Given the description of an element on the screen output the (x, y) to click on. 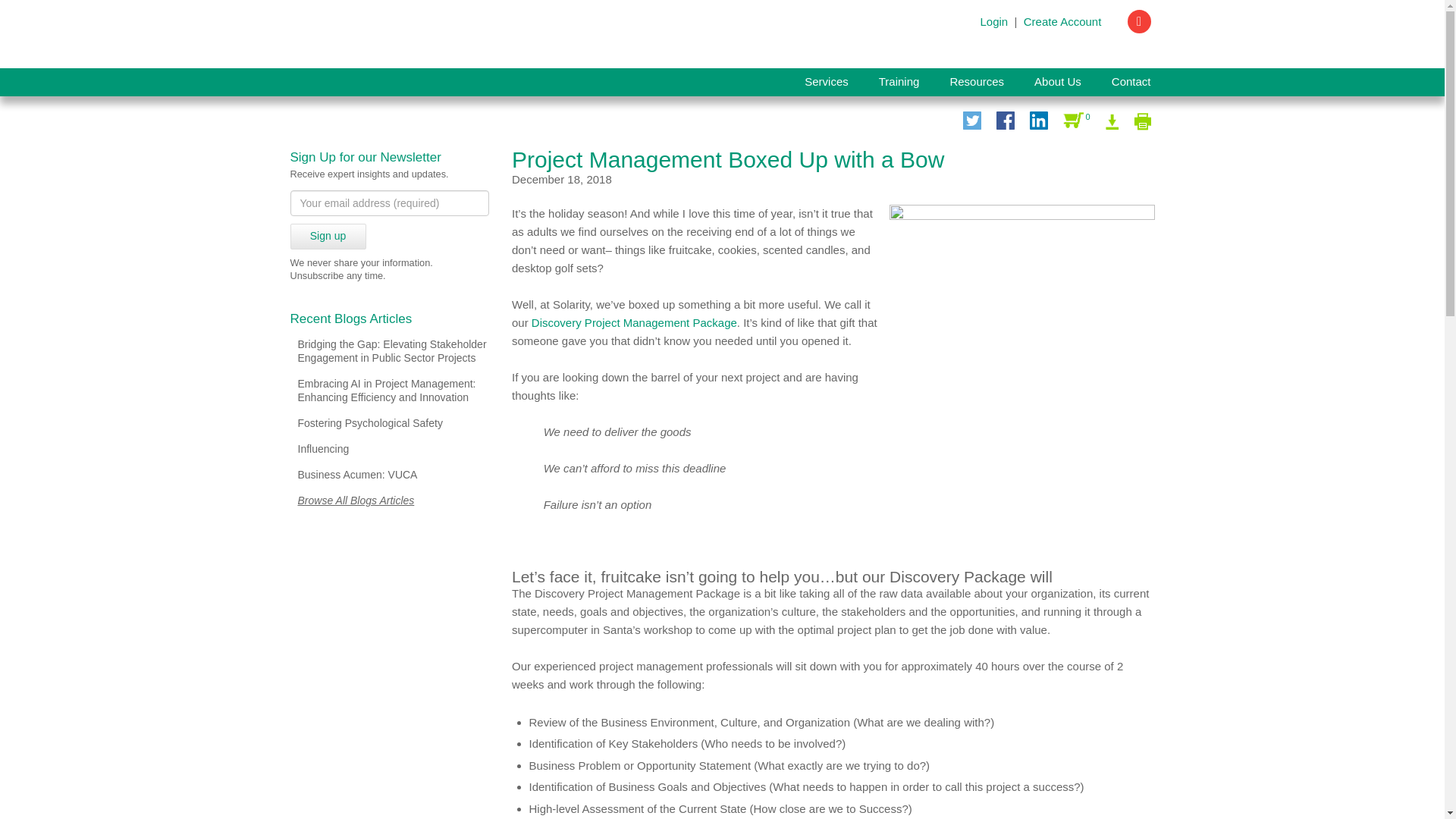
Create Account (1062, 21)
Login (993, 21)
About Us (1057, 81)
Services (826, 81)
Sign up (327, 236)
Solarity (392, 34)
Resources (976, 81)
Training (898, 81)
